Given the description of an element on the screen output the (x, y) to click on. 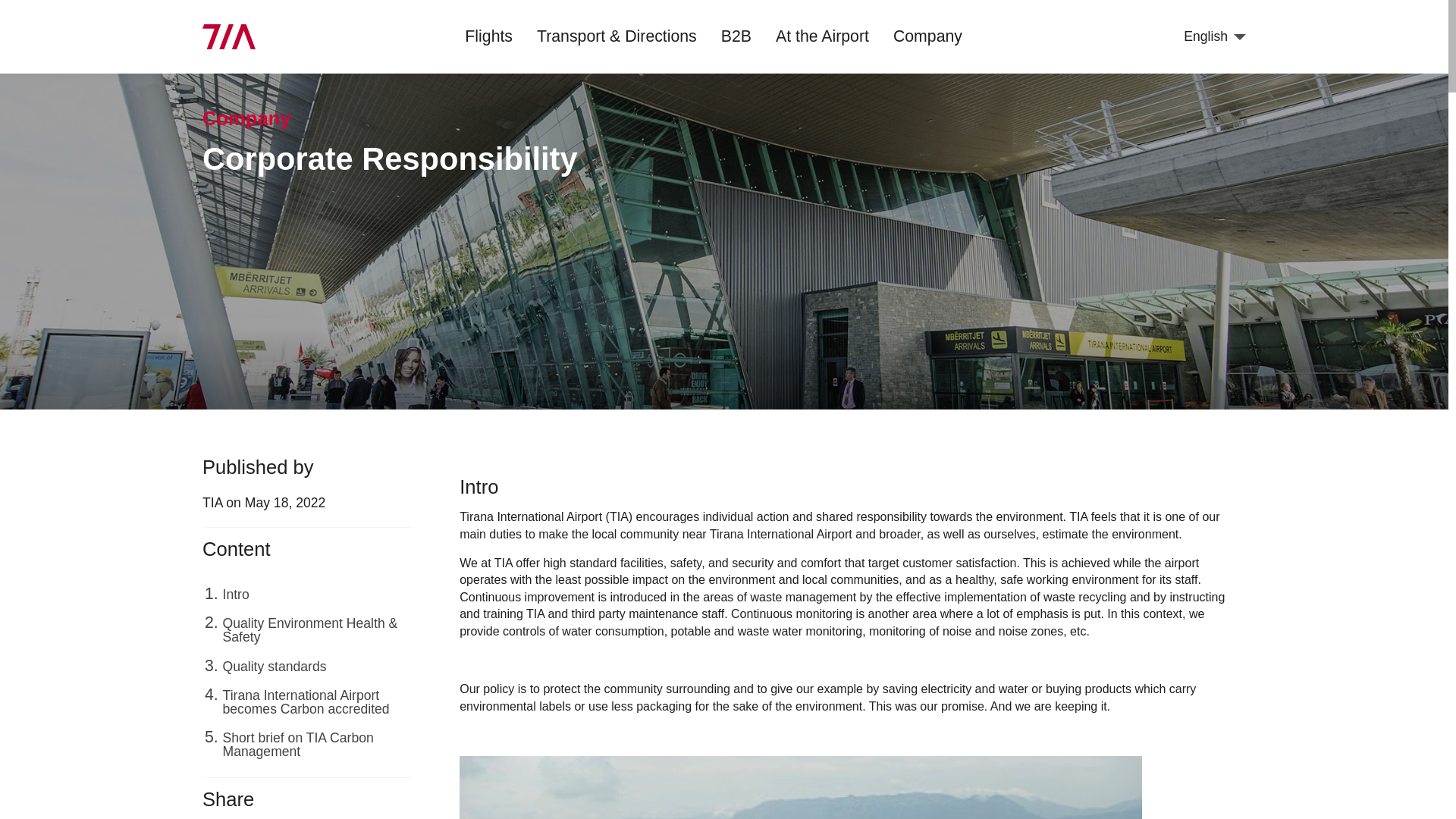
Flights (488, 36)
B2B (735, 36)
